Given the description of an element on the screen output the (x, y) to click on. 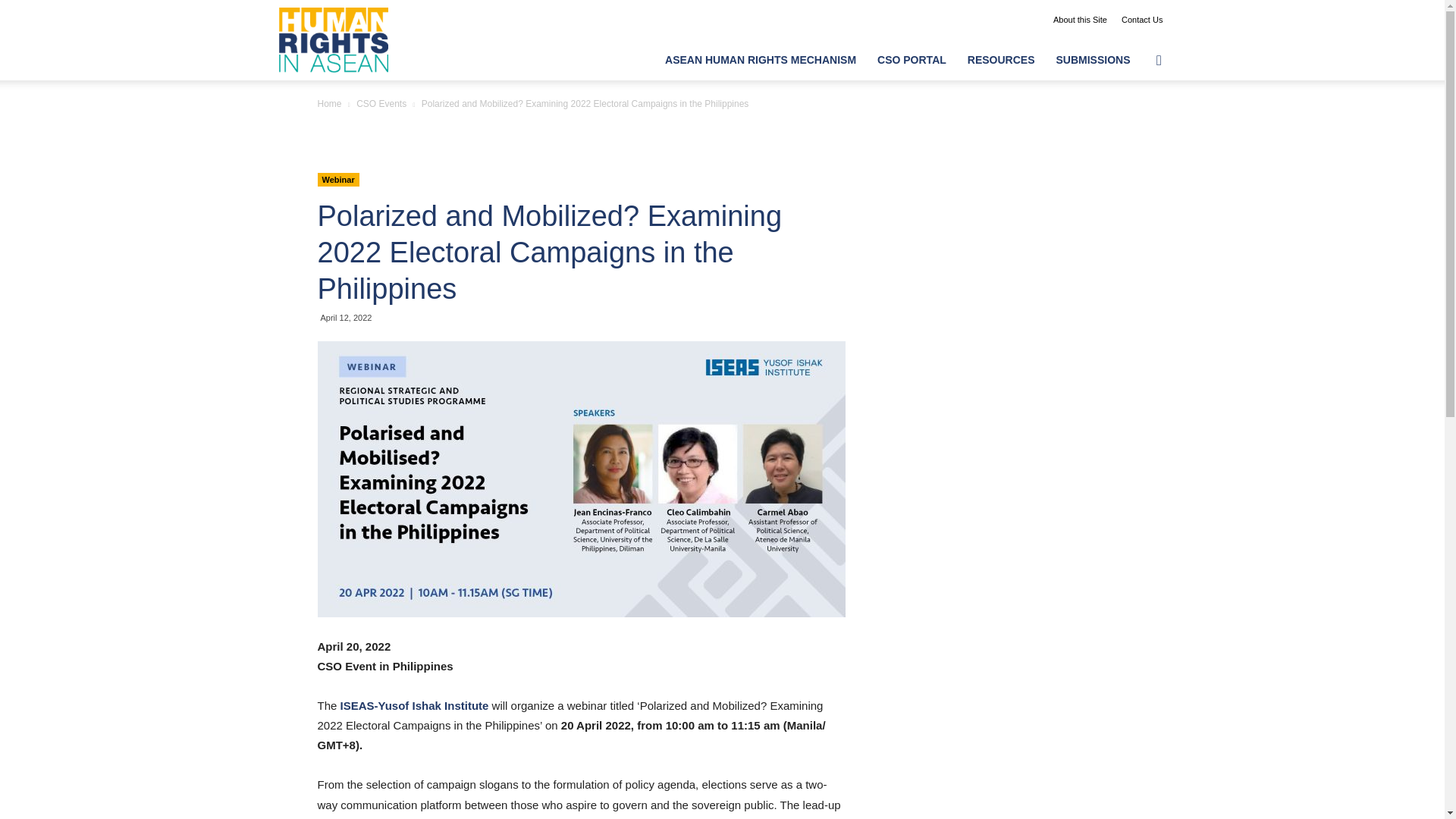
View all posts in CSO Events (381, 103)
